Given the description of an element on the screen output the (x, y) to click on. 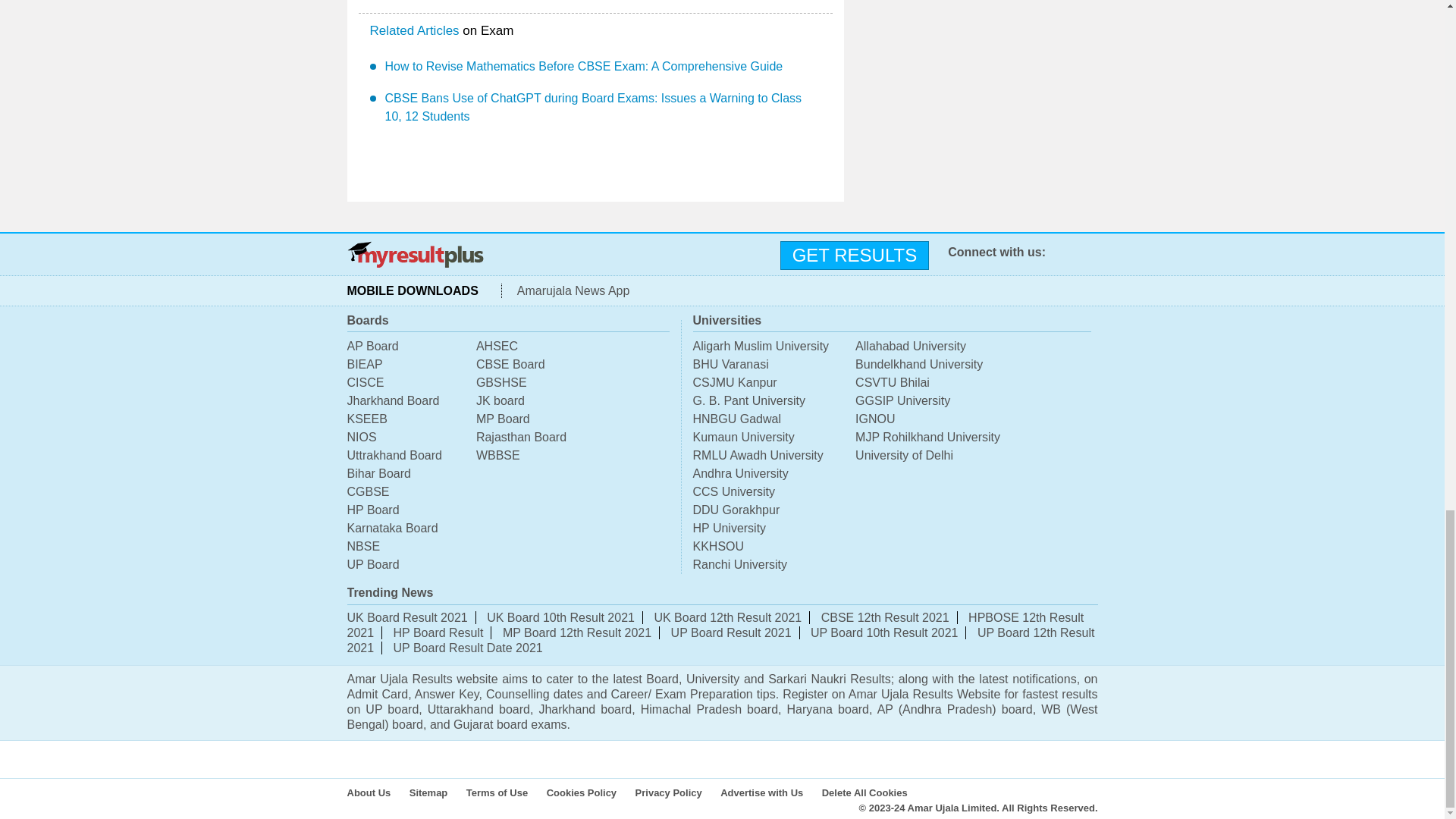
UK Board 10th Result 2021 (560, 617)
UP Board Result 2021 (731, 632)
UK Board Result 2021 (407, 617)
HP Board Result (438, 632)
UK Board 12th Result 2021 (727, 617)
HPBOSE 12th Result 2021 (715, 624)
UP Board 10th Result 2021 (884, 632)
MP Board 12th Result 2021 (576, 632)
CBSE 12th Result 2021 (885, 617)
UP Board 12th Result 2021 (720, 640)
